Given the description of an element on the screen output the (x, y) to click on. 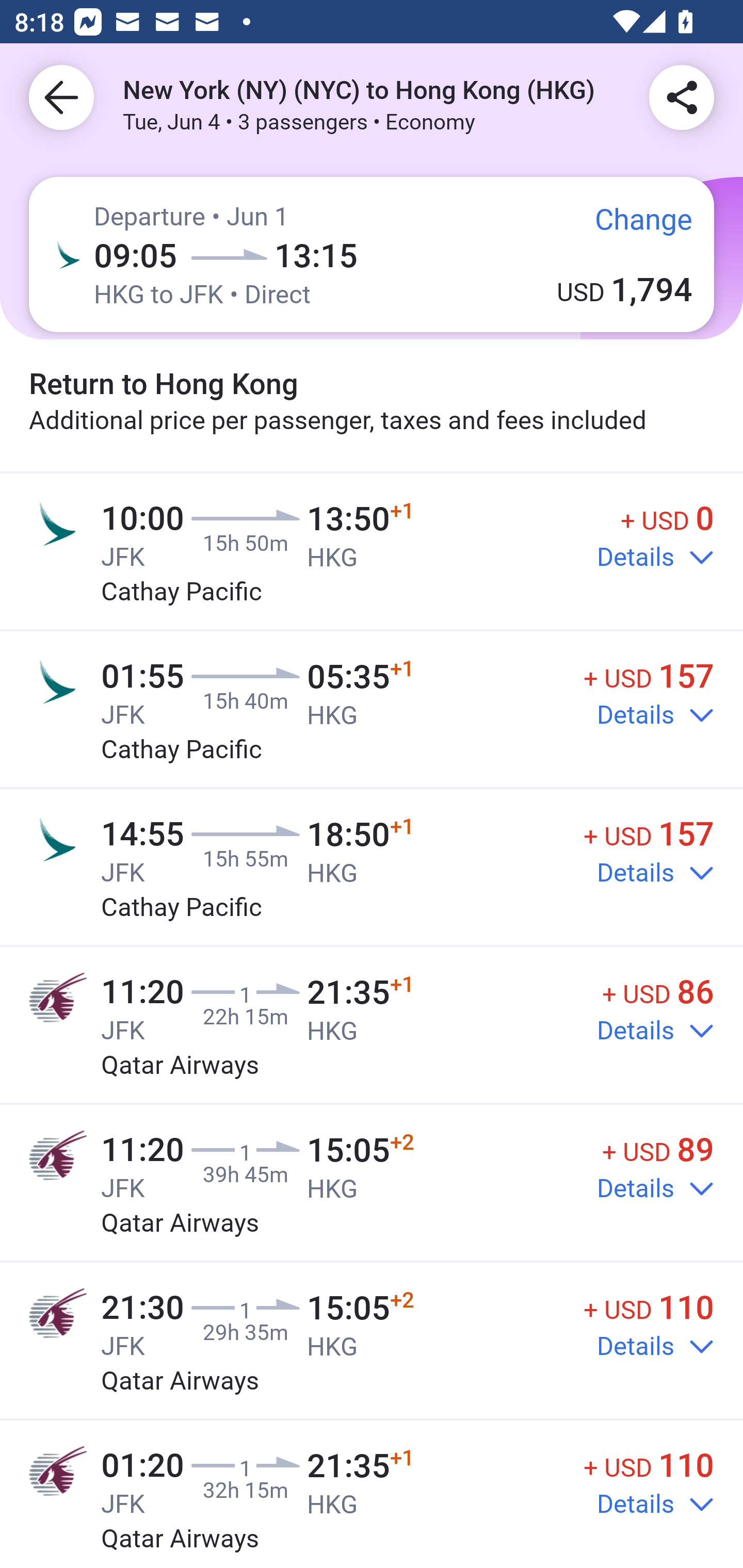
Change (629, 225)
